Given the description of an element on the screen output the (x, y) to click on. 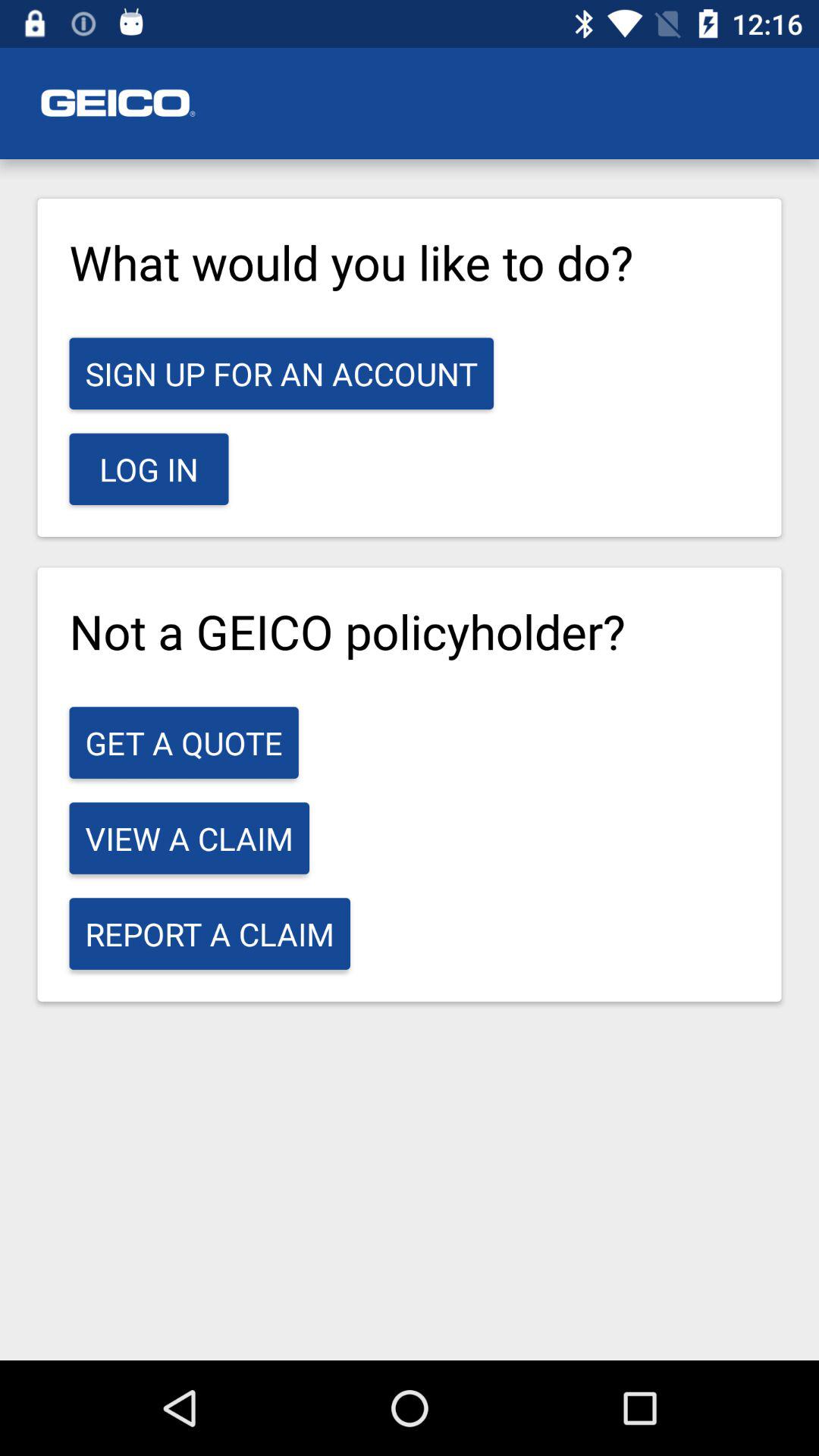
click icon below the what would you icon (281, 373)
